Given the description of an element on the screen output the (x, y) to click on. 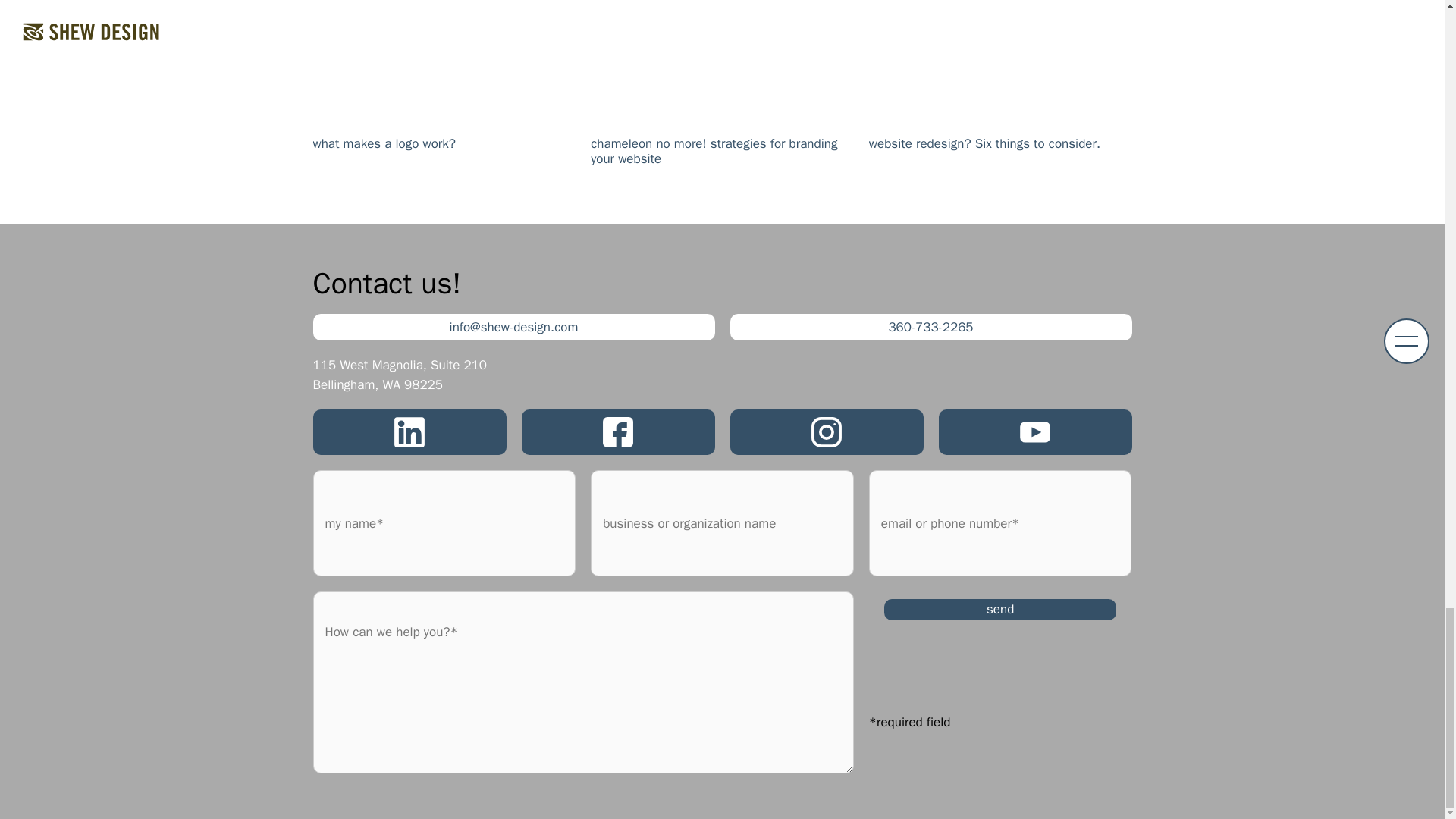
chameleon no more! strategies for branding your website (722, 96)
360-733-2265 (930, 327)
what makes a logo work? (444, 96)
website redesign? Six things to consider. (1000, 96)
send (999, 608)
send (999, 608)
